Given the description of an element on the screen output the (x, y) to click on. 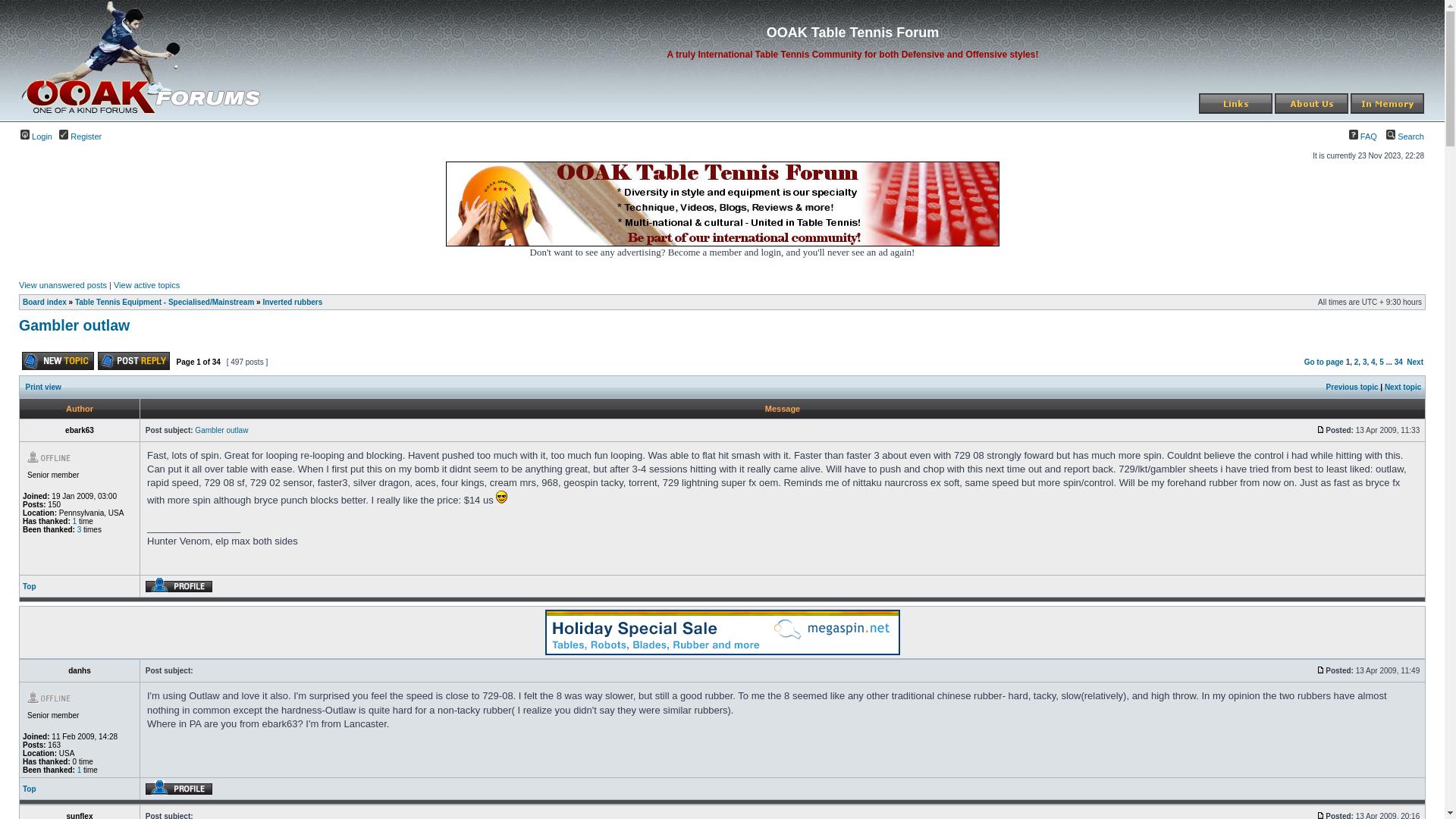
Gambler outlaw Element type: text (220, 430)
Cool Element type: hover (501, 496)
Board index Element type: text (44, 302)
Go to page Element type: text (1323, 361)
Inverted rubbers Element type: text (292, 302)
Login Element type: text (36, 136)
3 Element type: text (79, 529)
34 Element type: text (1398, 361)
FAQ Element type: text (1363, 136)
Reply to topic Element type: hover (133, 361)
Offline Element type: hover (57, 697)
Top Element type: text (29, 788)
4 Element type: text (1373, 361)
Next Element type: text (1414, 361)
Offline Element type: hover (57, 456)
1 Element type: text (74, 521)
Post new topic Element type: hover (57, 361)
5 Element type: text (1381, 361)
Post Element type: hover (1320, 669)
View active topics Element type: text (146, 284)
Register Element type: text (80, 136)
1 Element type: text (79, 769)
Profile Element type: hover (178, 787)
Top Element type: text (29, 586)
3 Element type: text (1364, 361)
Profile Element type: hover (178, 585)
Table Tennis Equipment - Specialised/Mainstream Element type: text (164, 302)
View unanswered posts Element type: text (62, 284)
Print view Element type: text (43, 386)
Next topic Element type: text (1402, 386)
2 Element type: text (1356, 361)
Post Element type: hover (1320, 429)
Gambler outlaw Element type: text (73, 324)
Search Element type: text (1405, 136)
Previous topic Element type: text (1352, 386)
